Given the description of an element on the screen output the (x, y) to click on. 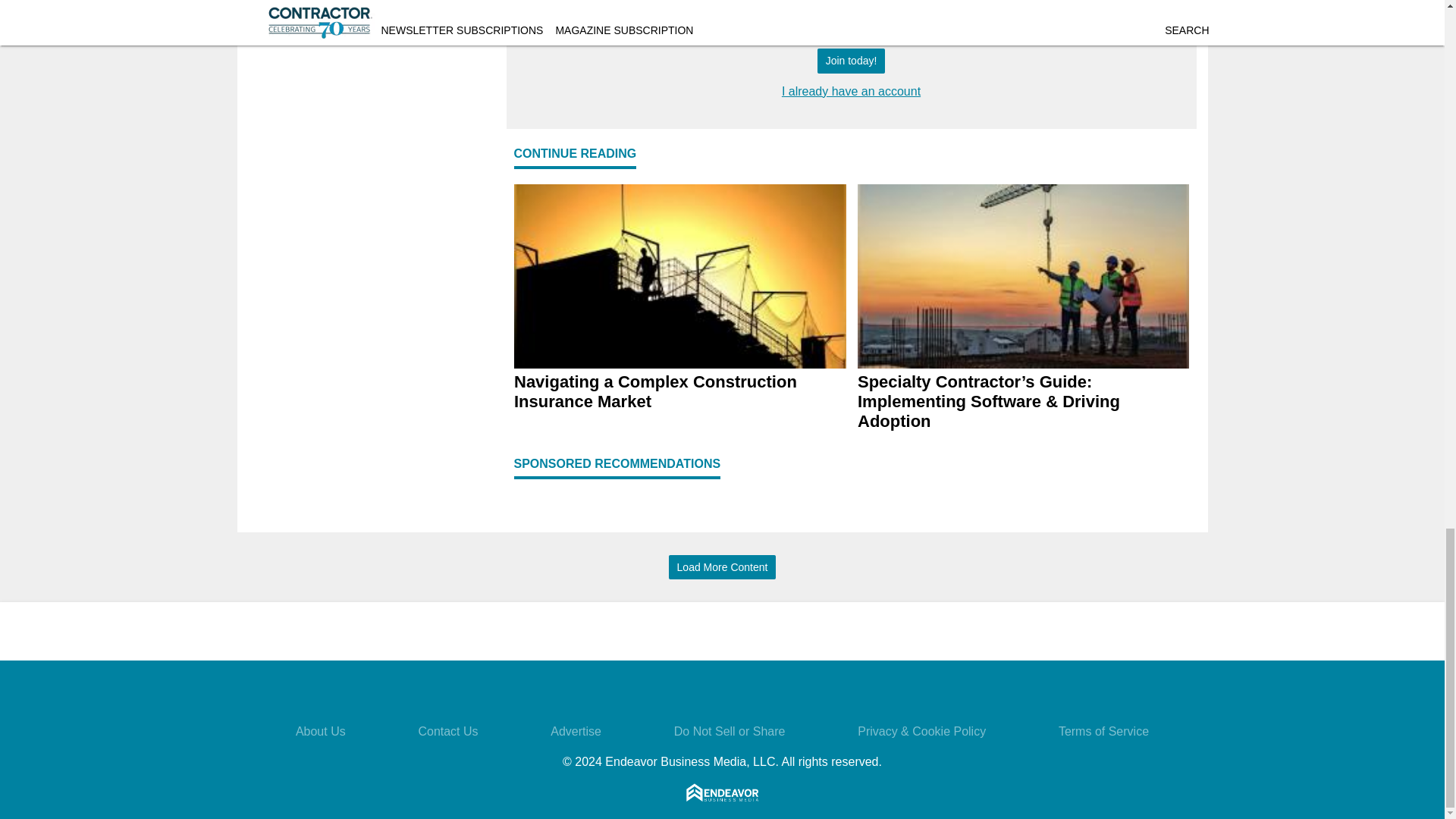
Join today! (850, 60)
I already have an account (850, 91)
Contact Us (447, 730)
Load More Content (722, 567)
Advertise (575, 730)
About Us (320, 730)
Navigating a Complex Construction Insurance Market (679, 391)
